Given the description of an element on the screen output the (x, y) to click on. 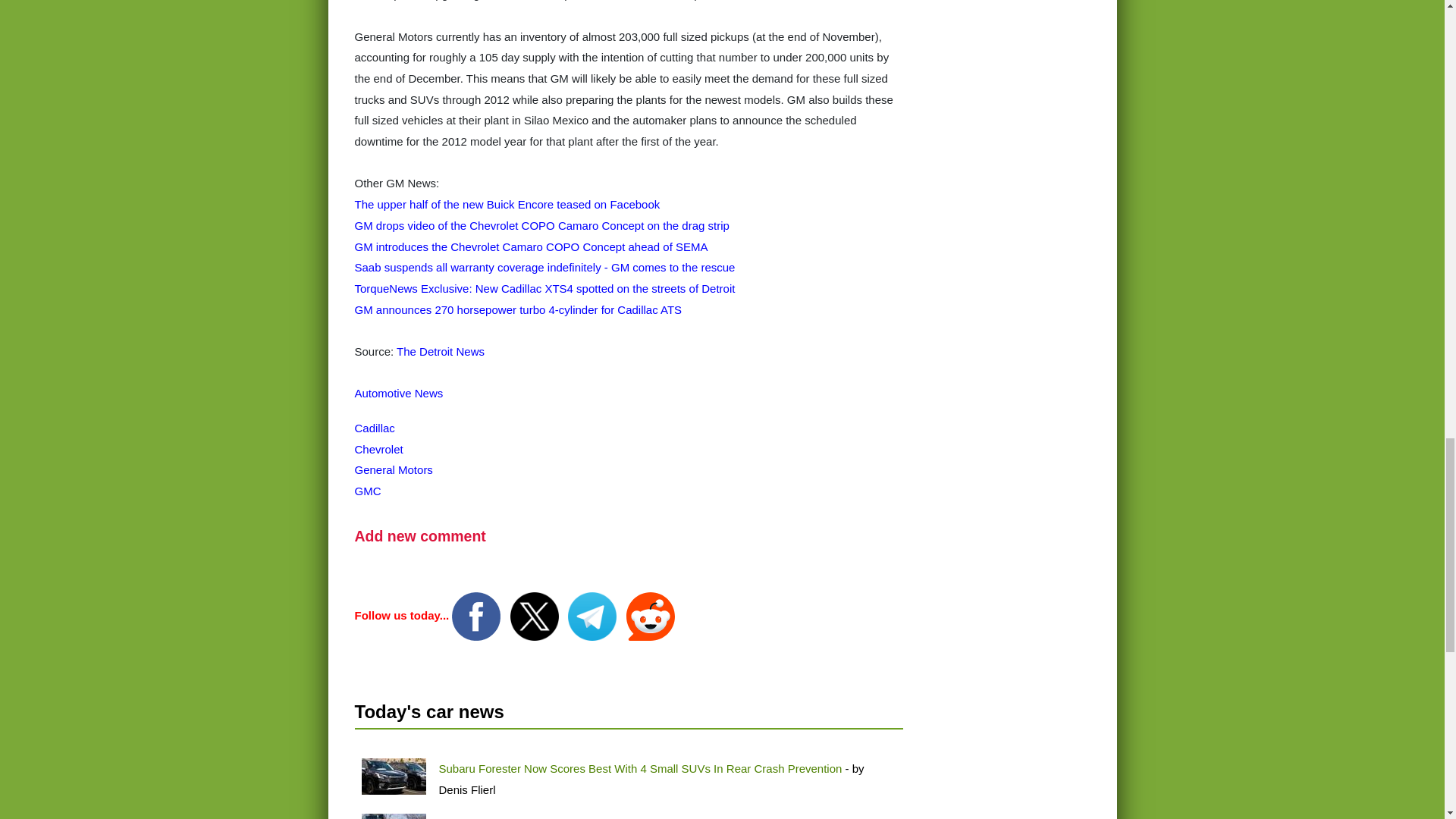
Join us on Telegram! (593, 615)
The Detroit News (440, 350)
Add new comment (420, 535)
Share your thoughts and opinions. (420, 535)
Join us on Reddit! (650, 615)
The upper half of the new Buick Encore teased on Facebook (508, 204)
Cadillac (374, 427)
GMC (368, 490)
General Motors (393, 469)
Chevrolet (379, 449)
